Given the description of an element on the screen output the (x, y) to click on. 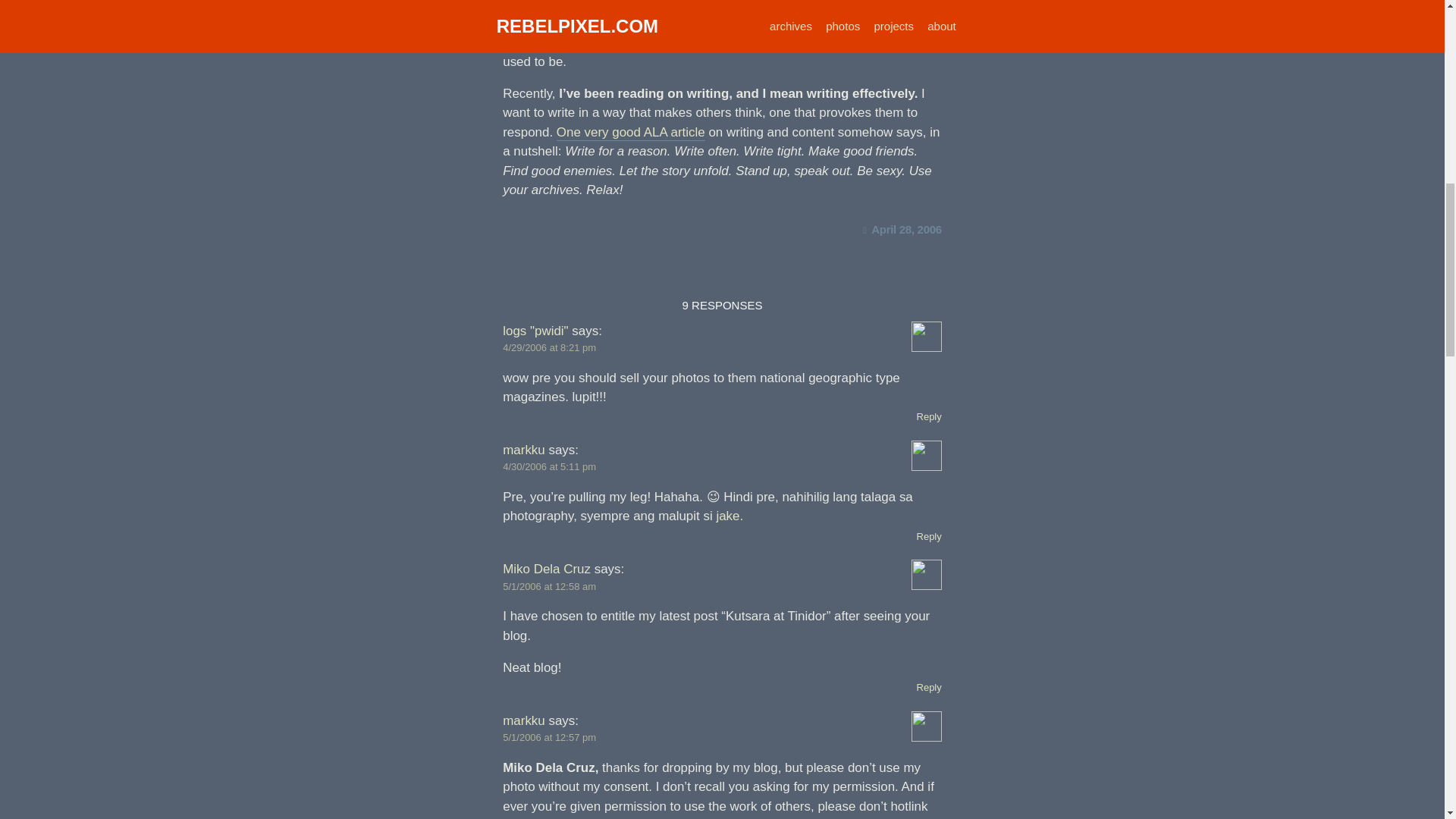
A List Apart (534, 6)
Reply (929, 536)
markku (523, 450)
One very good ALA article (630, 132)
Reply (929, 686)
jake. (729, 515)
Miko Dela Cruz (546, 568)
logs "pwidi" (534, 330)
markku (523, 720)
April 28, 2006 (901, 228)
